Given the description of an element on the screen output the (x, y) to click on. 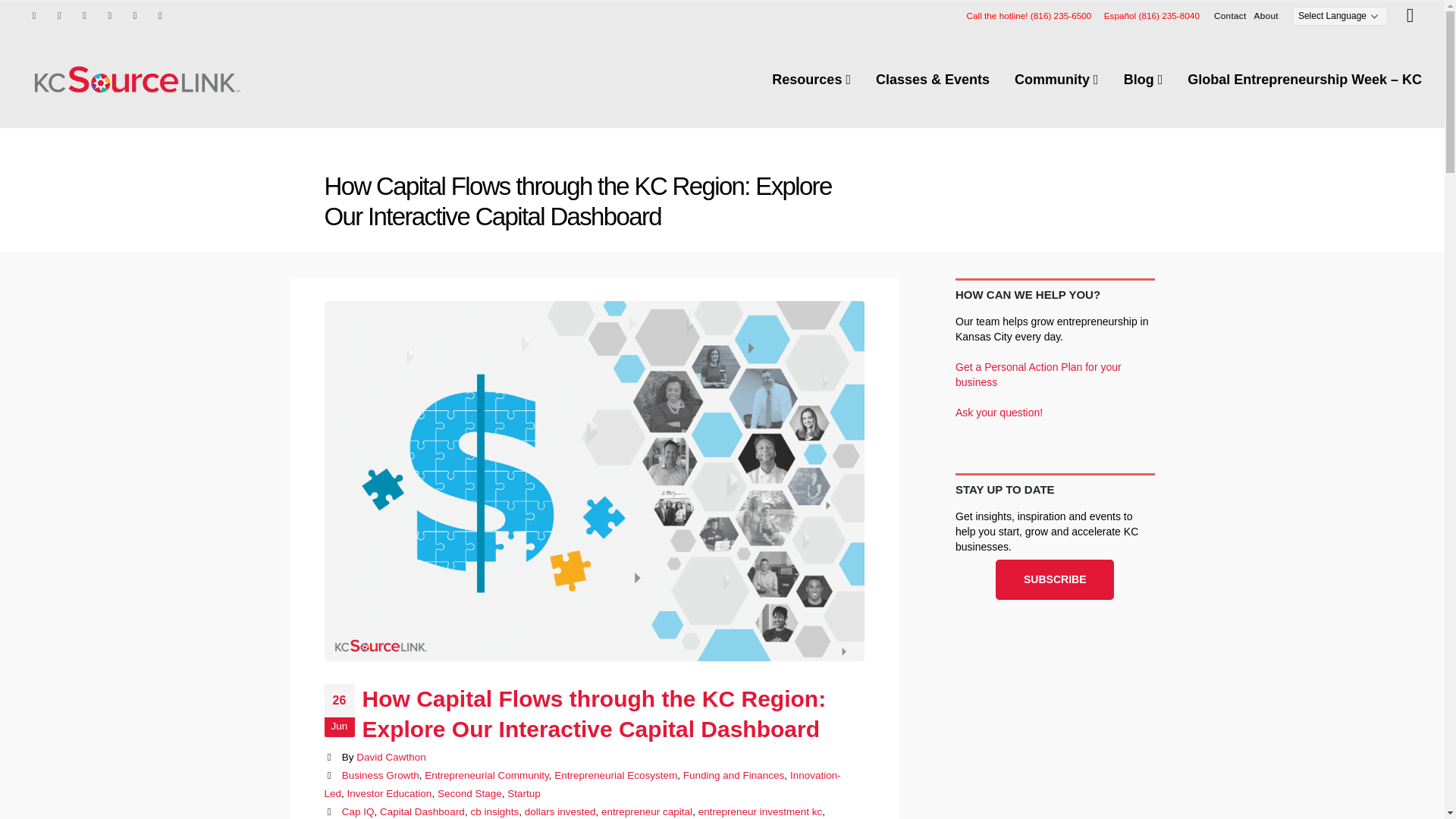
KCSourceLink -  (136, 78)
Pinterest (109, 15)
RSS (85, 15)
Facebook (34, 15)
Contact (1229, 15)
Community (1056, 79)
About (1266, 15)
Resources (811, 79)
Blog (1143, 79)
Instagram (134, 15)
